Given the description of an element on the screen output the (x, y) to click on. 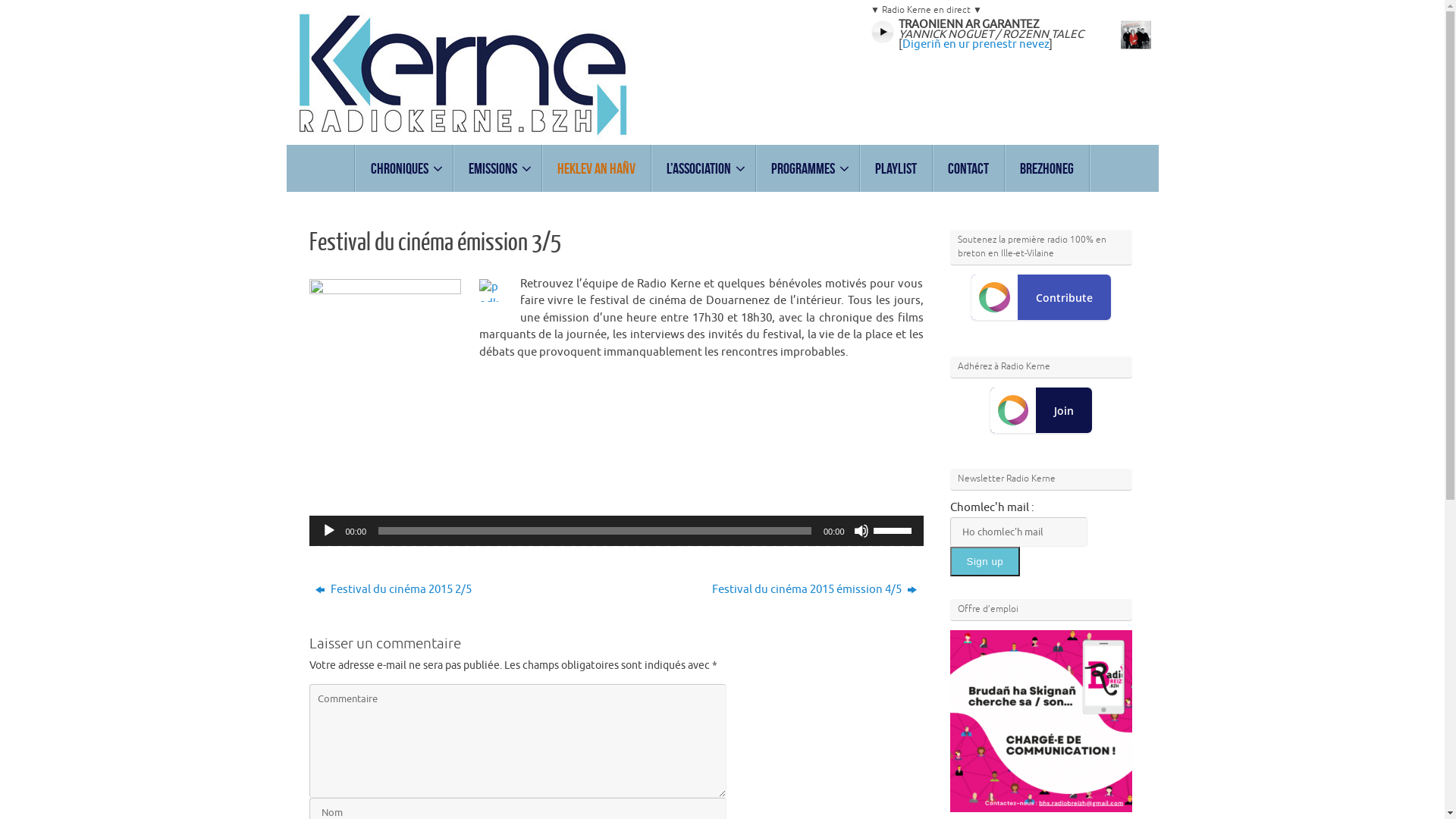
Playlist Element type: text (895, 167)
Programmes Element type: text (807, 167)
Muet Element type: hover (861, 530)
Contact Element type: text (968, 167)
Radio Kerne Element type: hover (722, 72)
Emissions Element type: text (497, 167)
Lecture Element type: hover (328, 530)
Sign up Element type: text (984, 560)
Passer au contenu Element type: text (285, 167)
Brezhoneg Element type: text (1046, 167)
Chroniques Element type: text (404, 167)
